Given the description of an element on the screen output the (x, y) to click on. 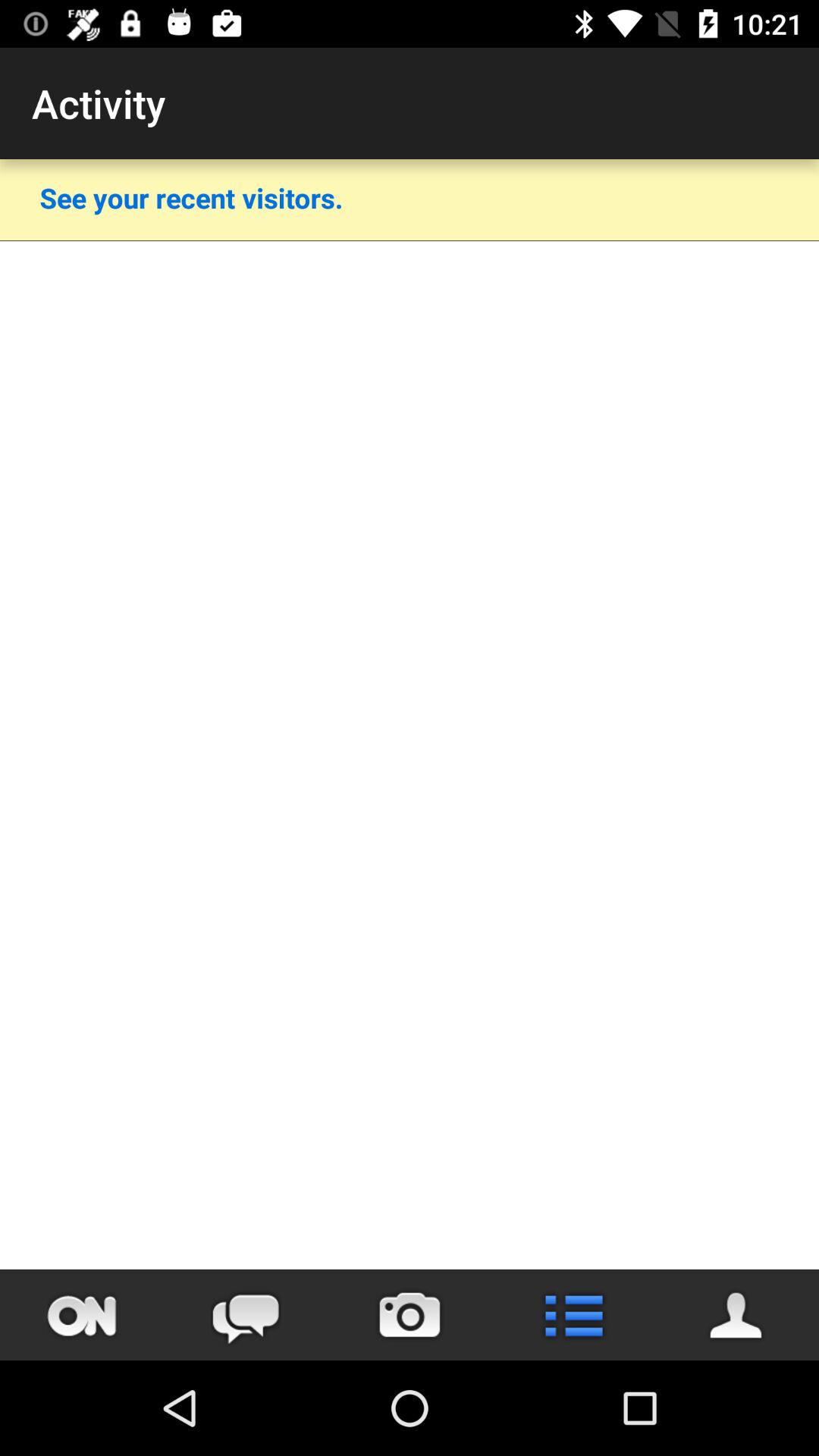
go to home screen (81, 1315)
